Given the description of an element on the screen output the (x, y) to click on. 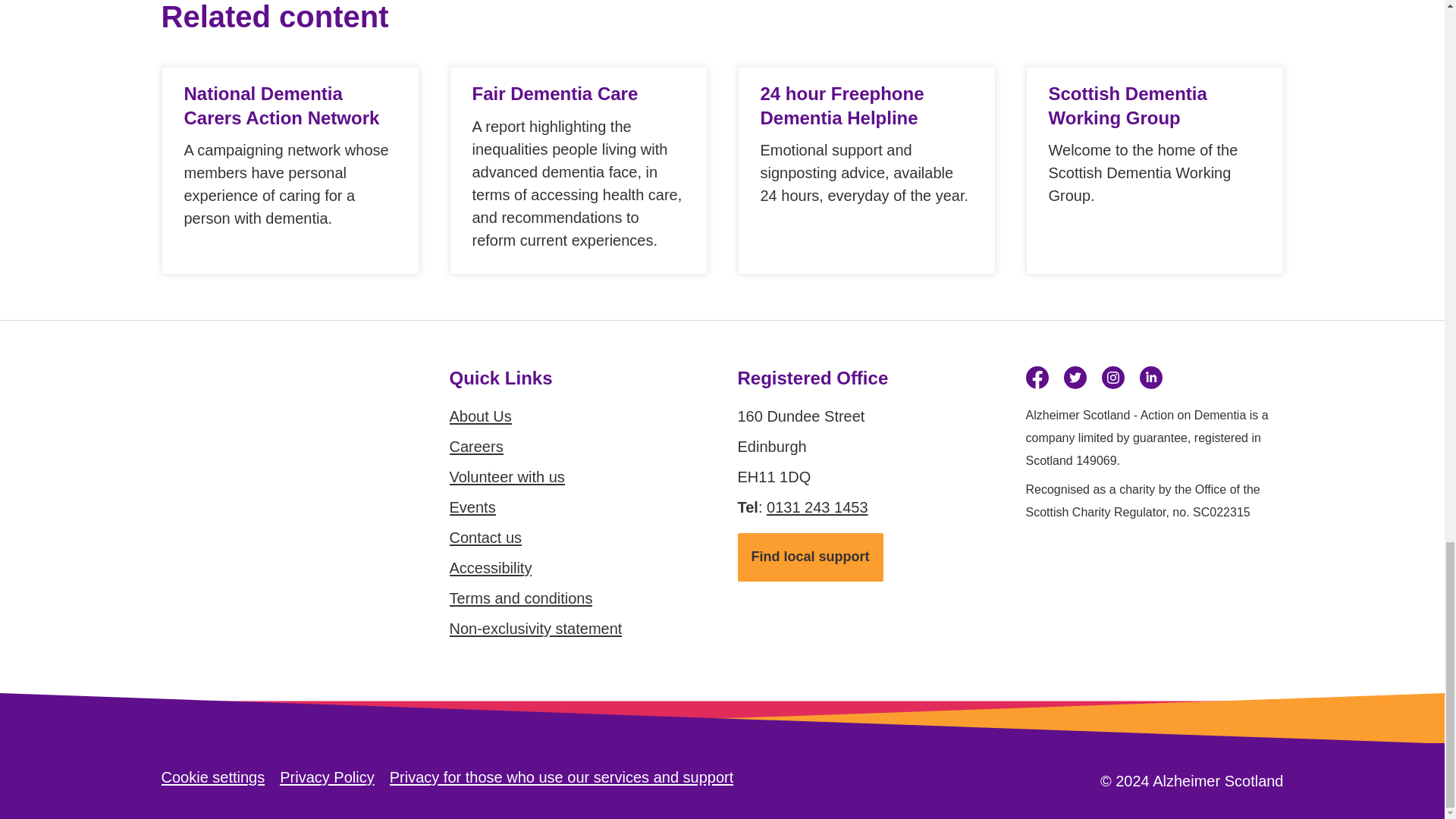
Opens in new window (1149, 377)
Opens in new window (1074, 377)
Opens in new window (1112, 377)
Opens in new window (1036, 377)
